Given the description of an element on the screen output the (x, y) to click on. 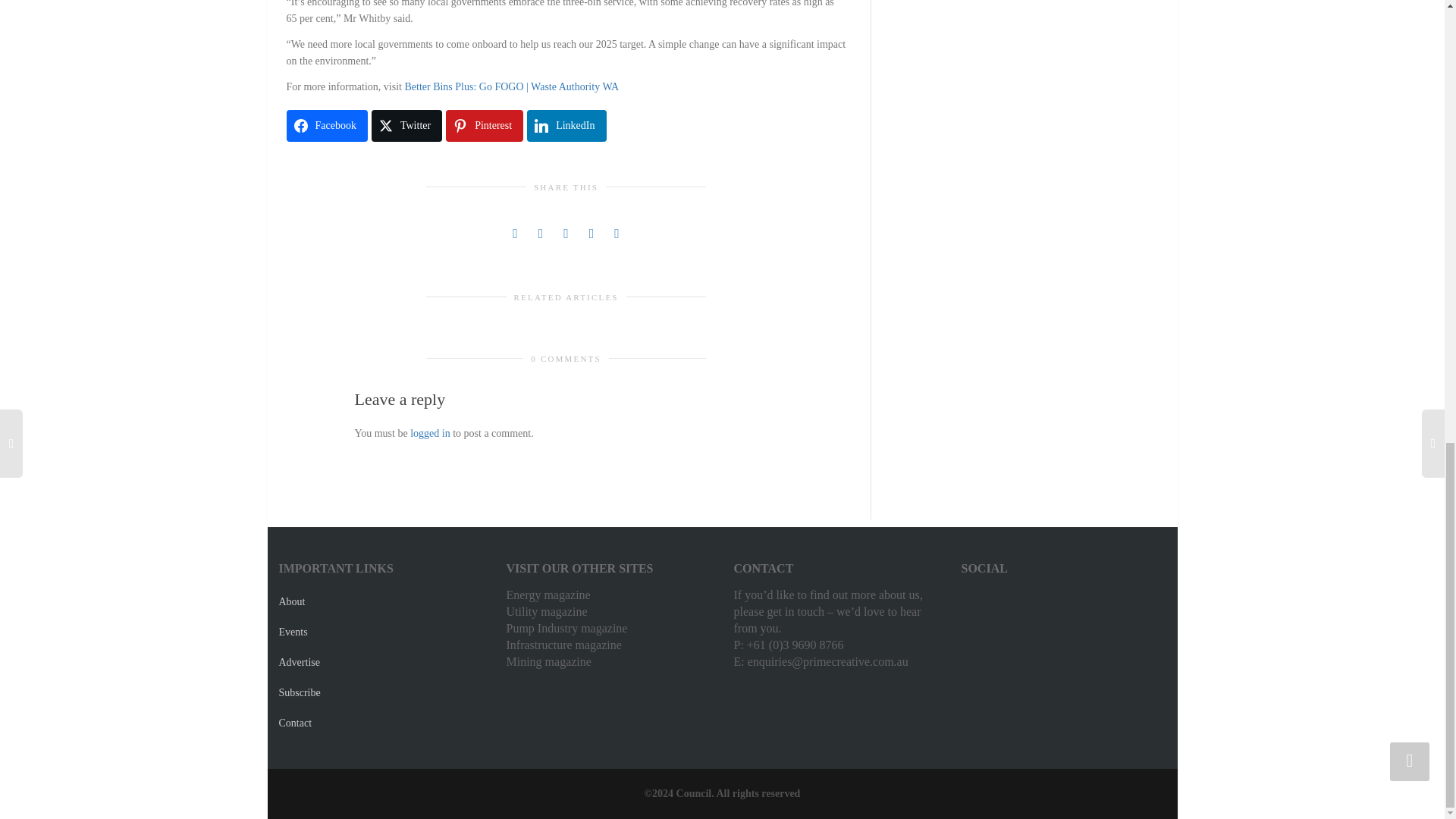
Facebook (327, 125)
Pinterest (483, 125)
Twitter (406, 125)
